Given the description of an element on the screen output the (x, y) to click on. 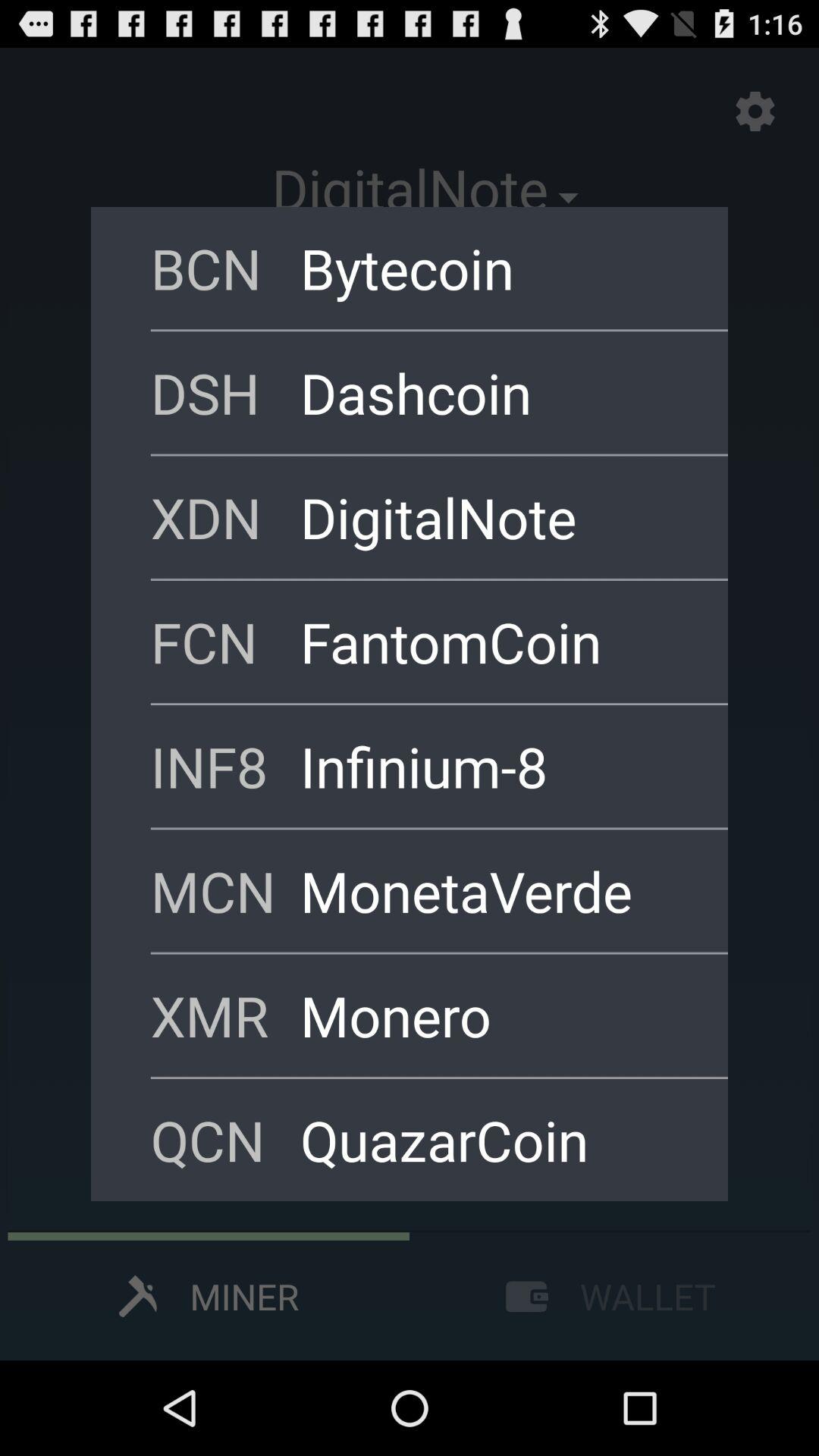
turn off the item above mcn icon (494, 766)
